Given the description of an element on the screen output the (x, y) to click on. 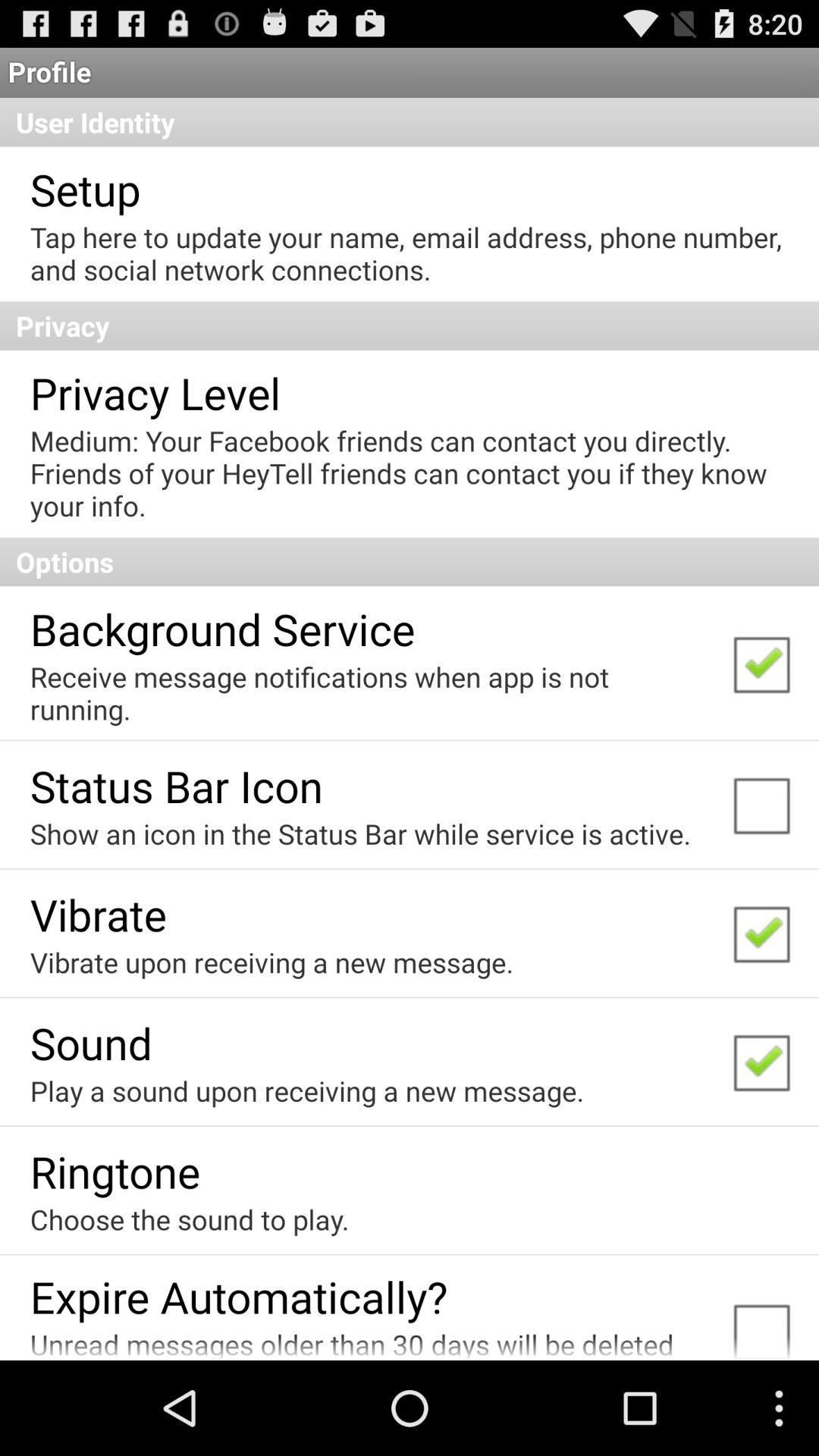
flip until receive message notifications (370, 693)
